Given the description of an element on the screen output the (x, y) to click on. 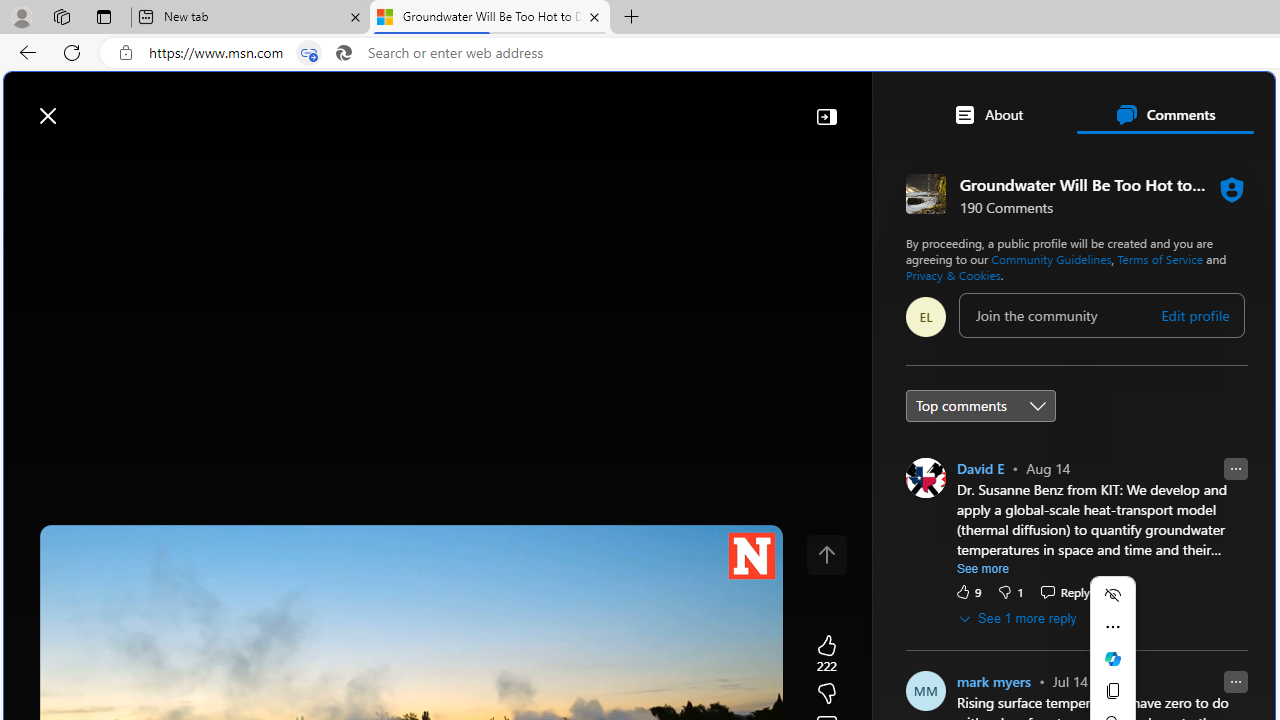
Personalize (1195, 162)
222 Like (826, 653)
Hide menu (1112, 594)
Profile Picture (924, 477)
Profile Picture (924, 690)
About (987, 114)
Community Guidelines (1051, 258)
